Given the description of an element on the screen output the (x, y) to click on. 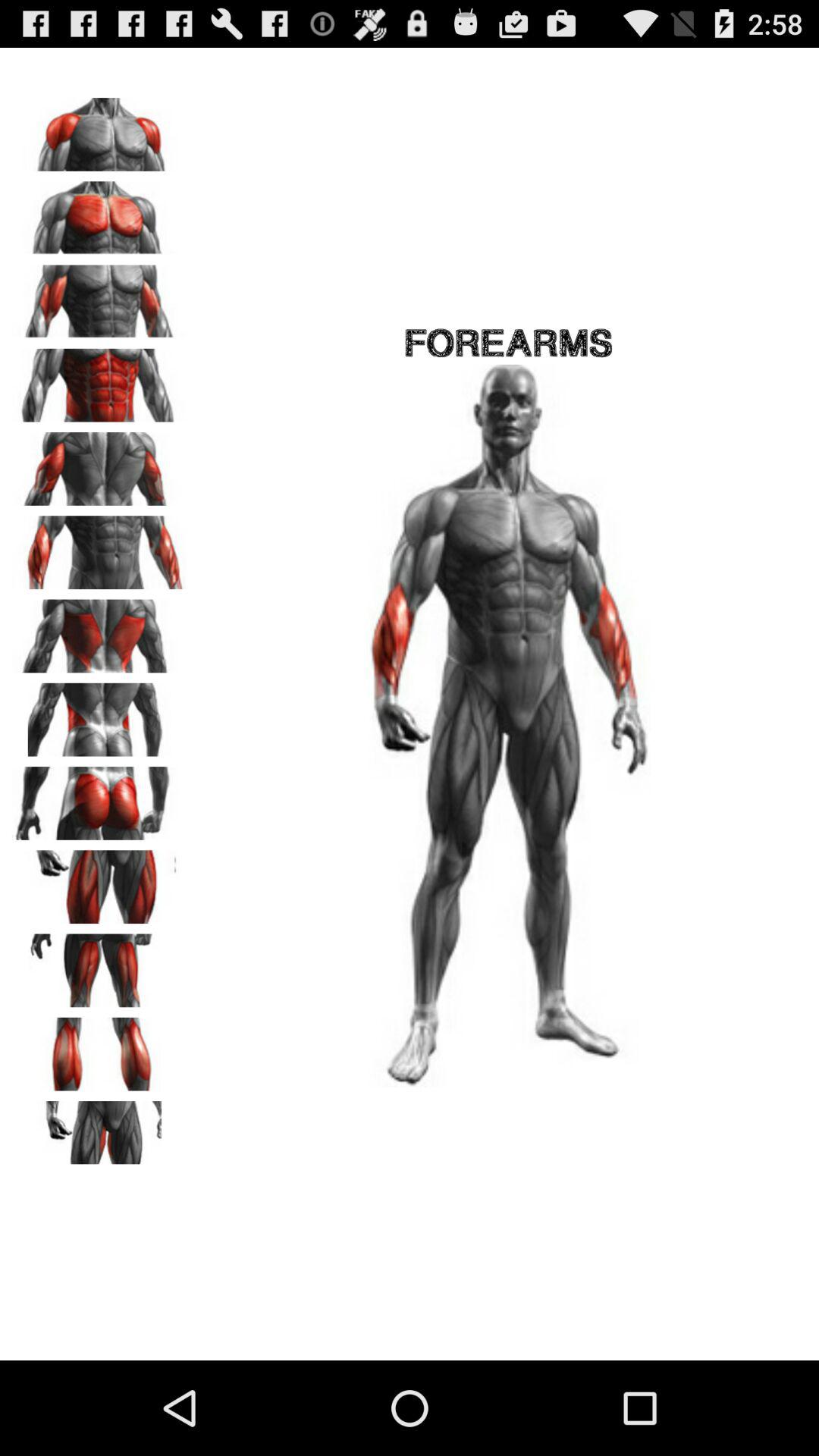
biceps workout option (99, 296)
